Given the description of an element on the screen output the (x, y) to click on. 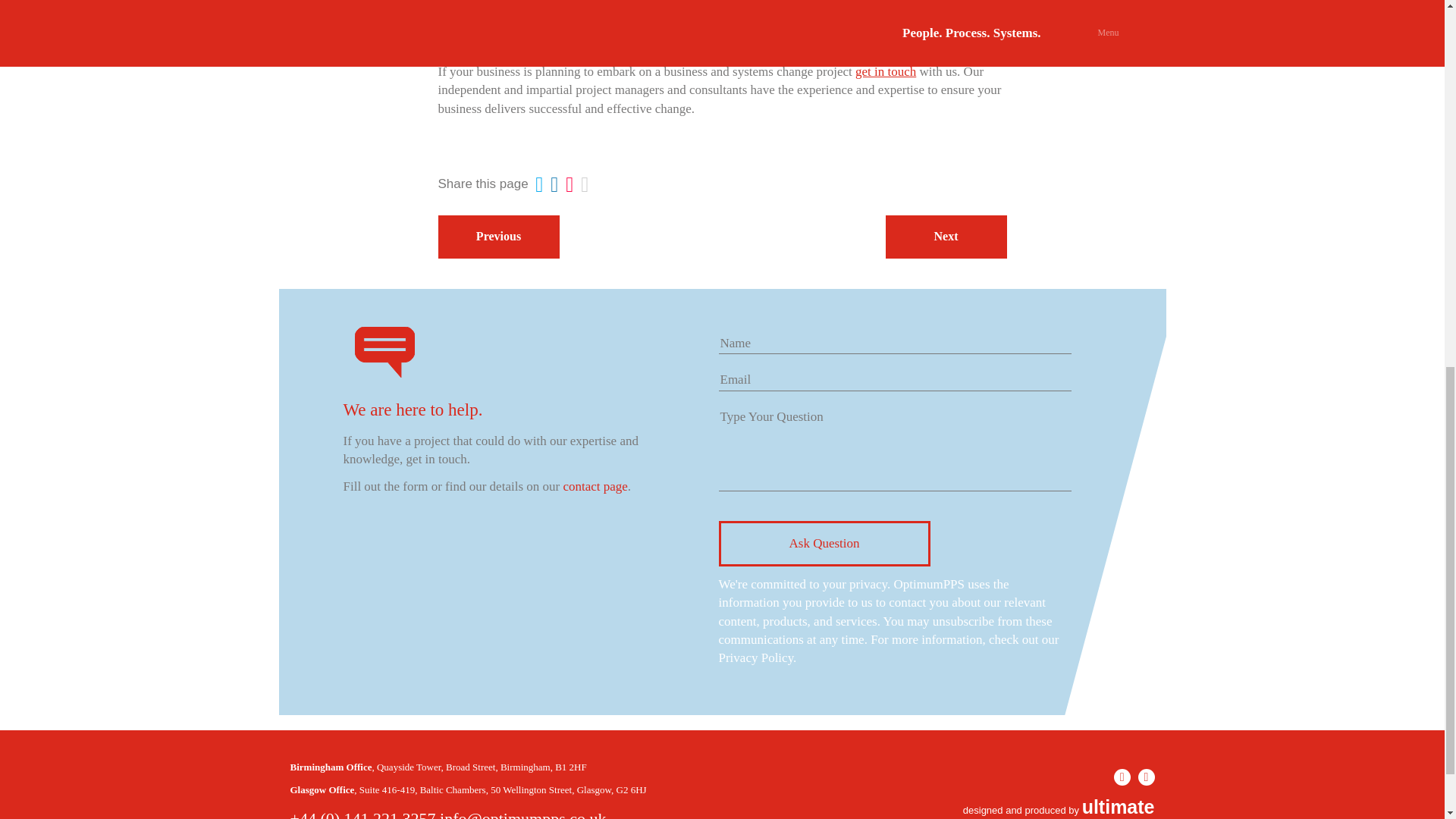
get in touch  (888, 71)
designed and produced by ultimate (1058, 809)
Next (945, 236)
Ask Question (824, 543)
Ask Question (824, 543)
contact page (594, 486)
Previous (498, 236)
